Given the description of an element on the screen output the (x, y) to click on. 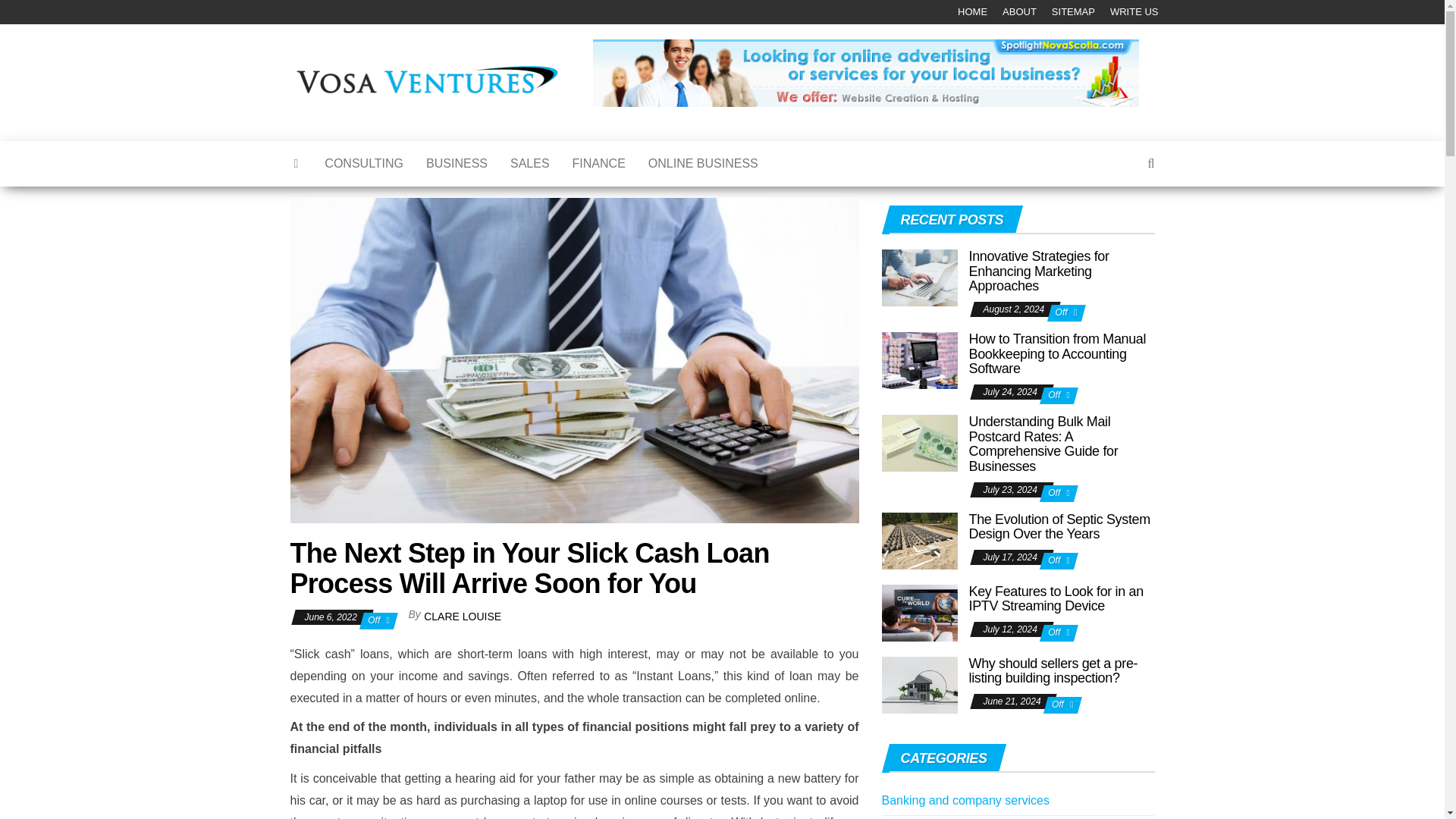
The Evolution of Septic System Design Over the Years (1059, 526)
CONSULTING (363, 163)
CLARE LOUISE (461, 616)
Sitemap (1072, 12)
ONLINE BUSINESS (703, 163)
Finance (598, 163)
About (1018, 12)
Innovative Strategies for Enhancing Marketing Approaches (918, 277)
SITEMAP (1072, 12)
Innovative Strategies for Enhancing Marketing Approaches (918, 277)
Consulting (363, 163)
